Given the description of an element on the screen output the (x, y) to click on. 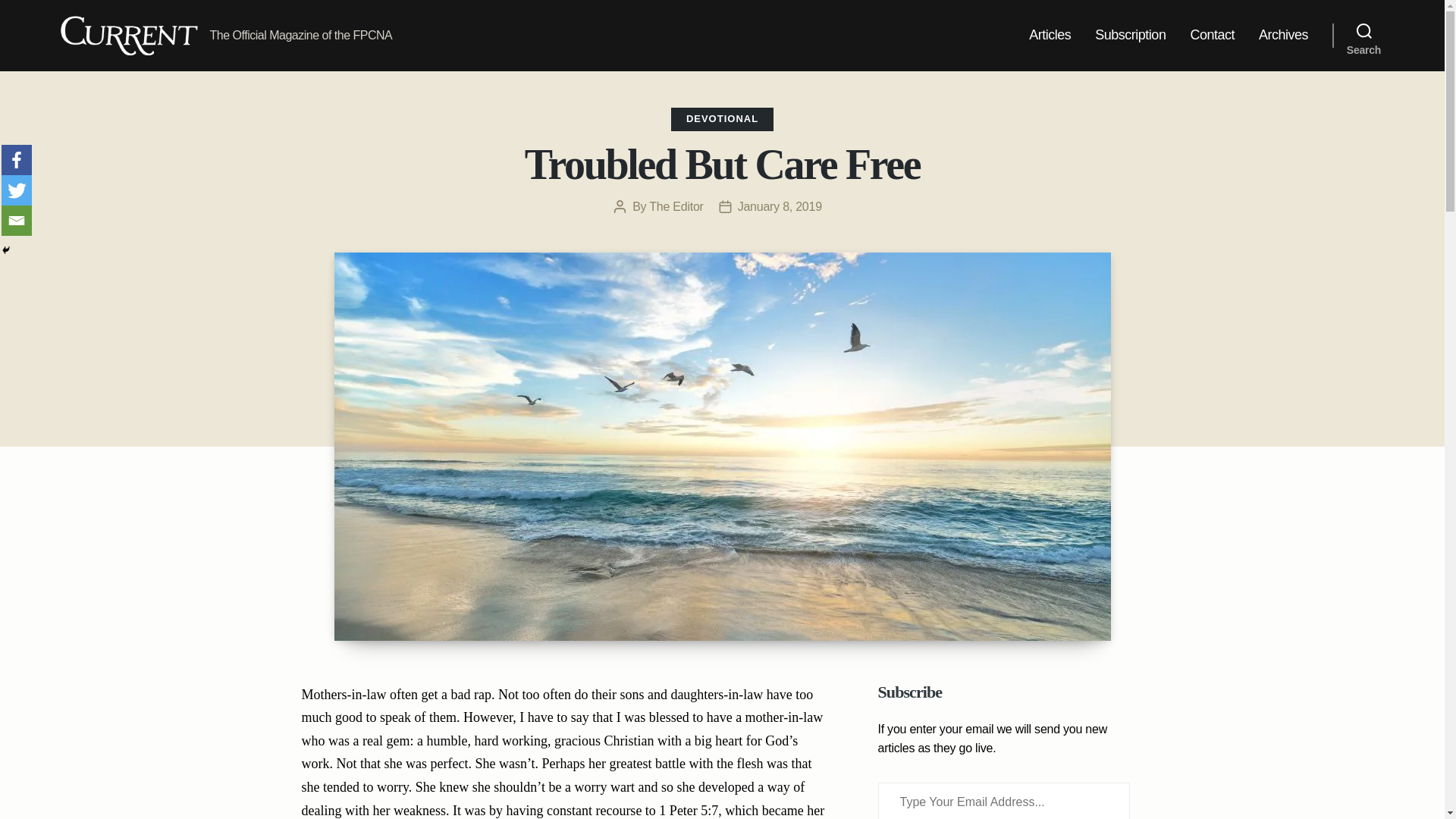
The Editor (676, 205)
Contact (1211, 35)
Facebook (16, 159)
Hide (5, 250)
Search (1364, 35)
January 8, 2019 (780, 205)
DEVOTIONAL (722, 118)
Subscription (1130, 35)
Articles (1049, 35)
Twitter (16, 190)
